Given the description of an element on the screen output the (x, y) to click on. 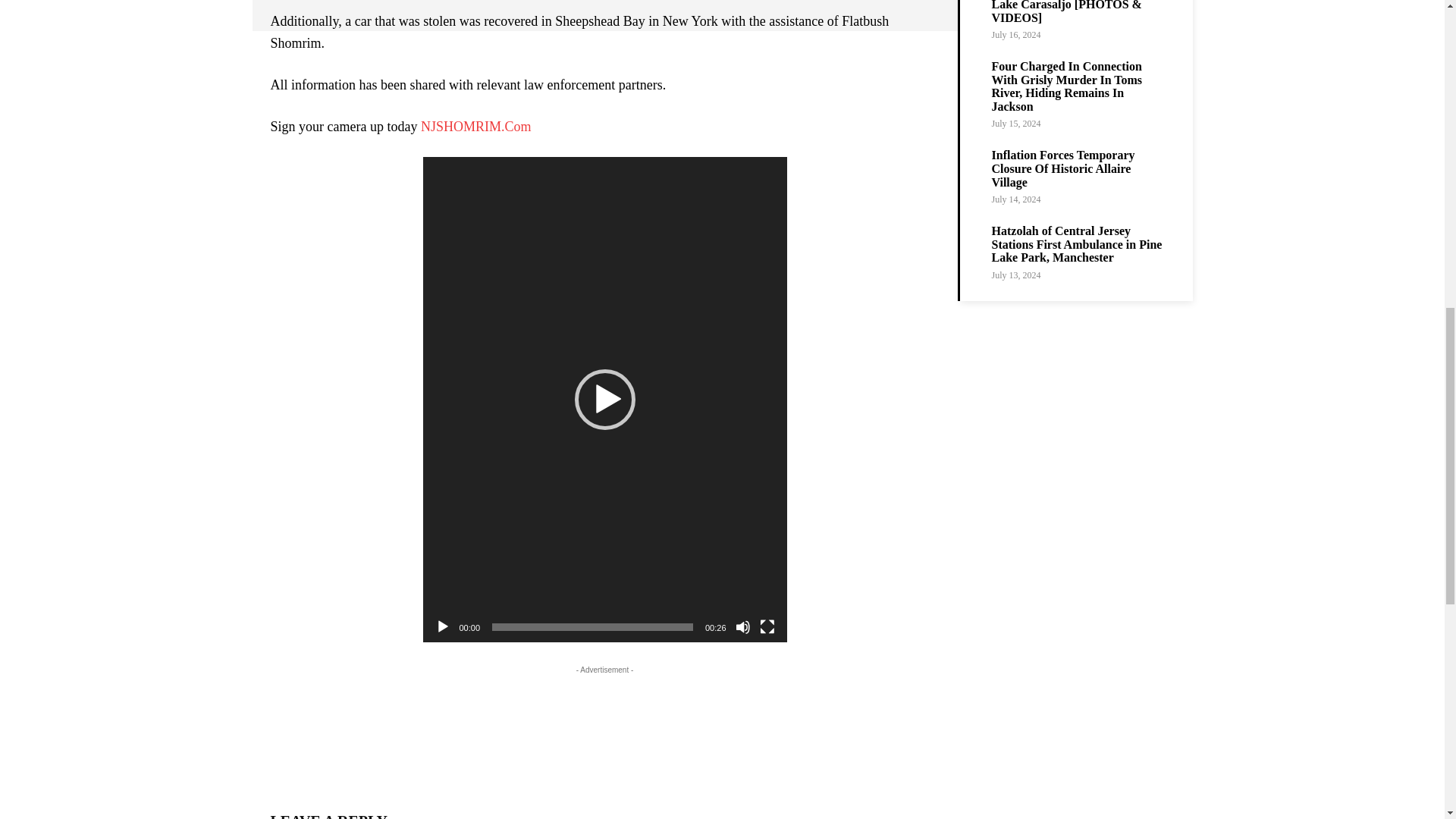
Play (442, 626)
